Given the description of an element on the screen output the (x, y) to click on. 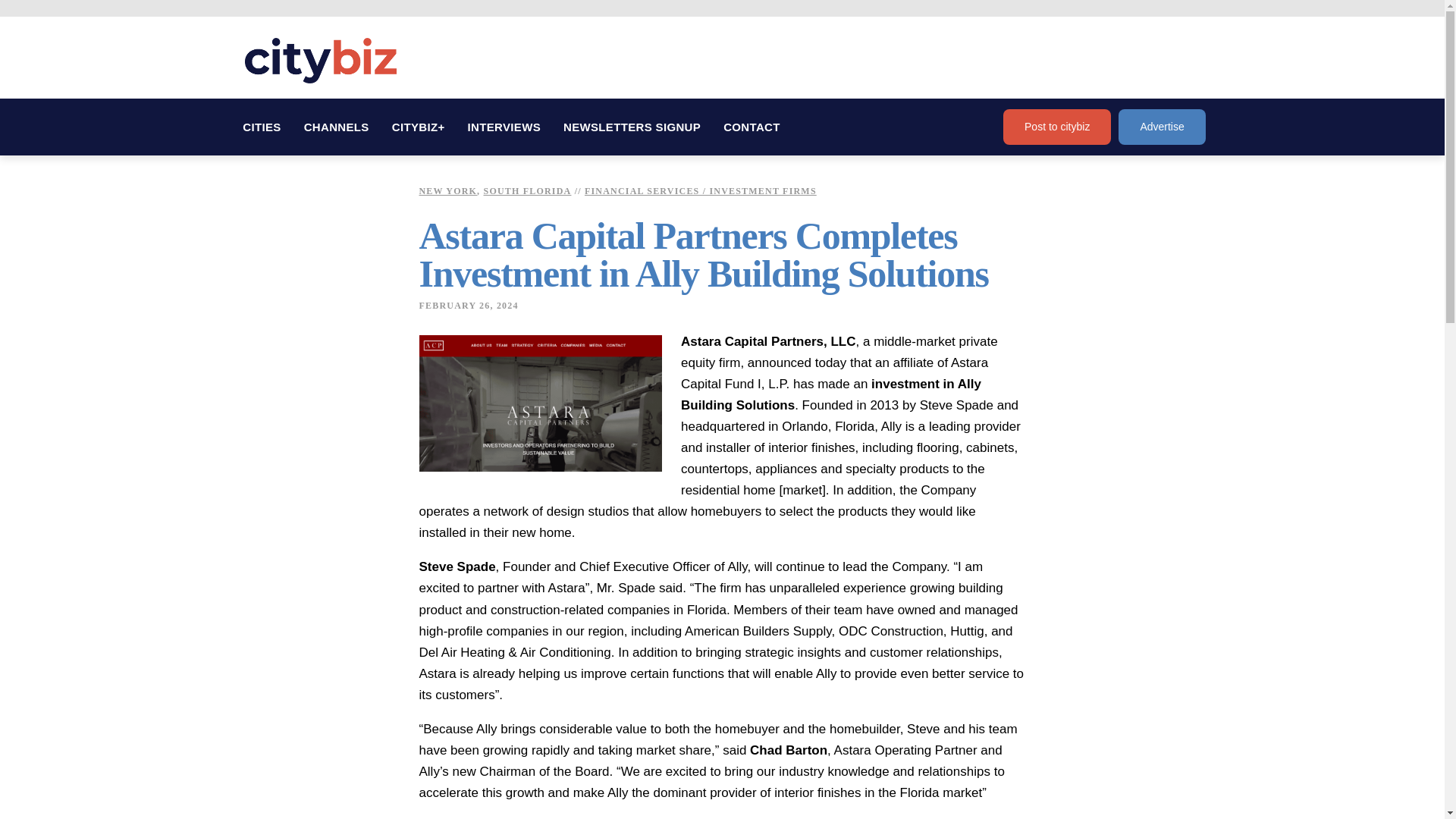
CITIES (261, 127)
CHANNELS (336, 127)
citybiz (320, 60)
citybiz (320, 60)
